Given the description of an element on the screen output the (x, y) to click on. 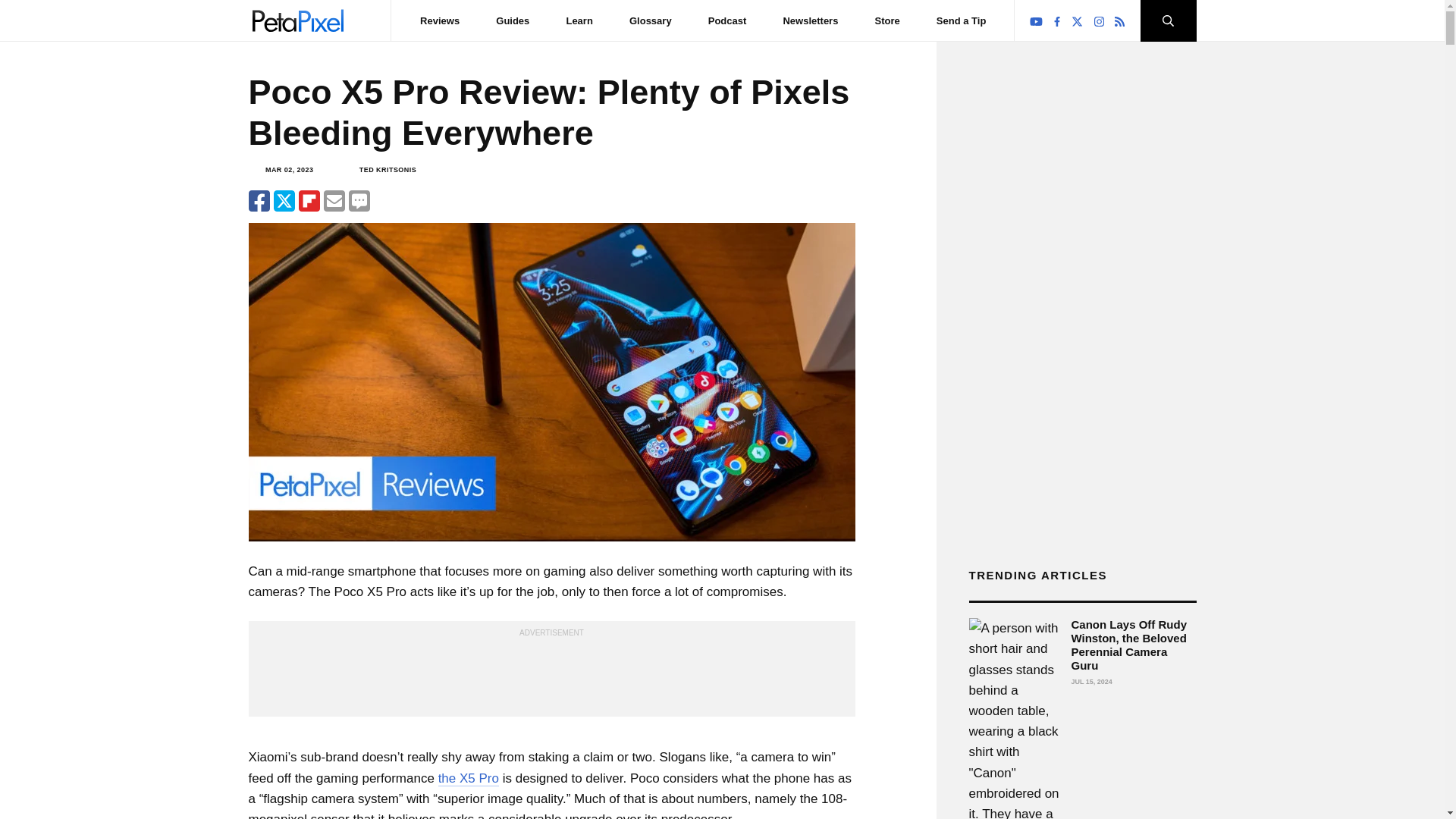
Follow PetaPixel on YouTube (1035, 21)
Share on Flipboard (309, 200)
Share on facebook (258, 200)
Follow PetaPixel on X (1077, 21)
Learn (579, 20)
Share on X (283, 200)
Reviews (440, 20)
Store (887, 20)
Comments (359, 200)
Send a Tip (961, 20)
the X5 Pro (468, 778)
TED KRITSONIS (387, 169)
PetaPixel (296, 20)
Guides (512, 20)
Email this article (333, 200)
